Given the description of an element on the screen output the (x, y) to click on. 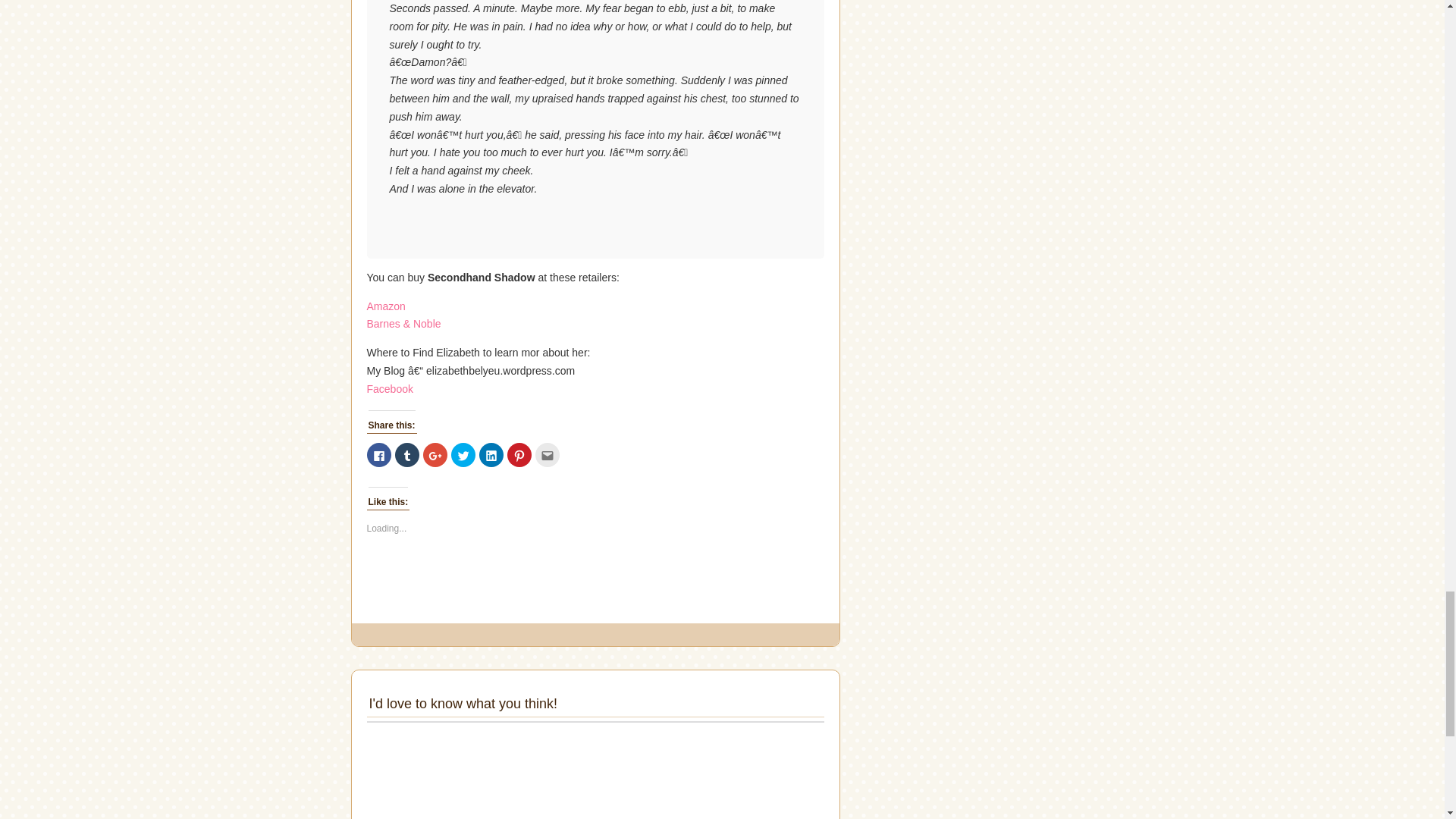
Facebook (389, 388)
Amazon (386, 306)
Click to share on Pinterest (518, 454)
Click to share on Tumblr (406, 454)
Click to share on Facebook (378, 454)
Click to share on LinkedIn (491, 454)
Facebook (389, 388)
Click to share on Twitter (461, 454)
Click to email this to a friend (547, 454)
Amazon (386, 306)
